Given the description of an element on the screen output the (x, y) to click on. 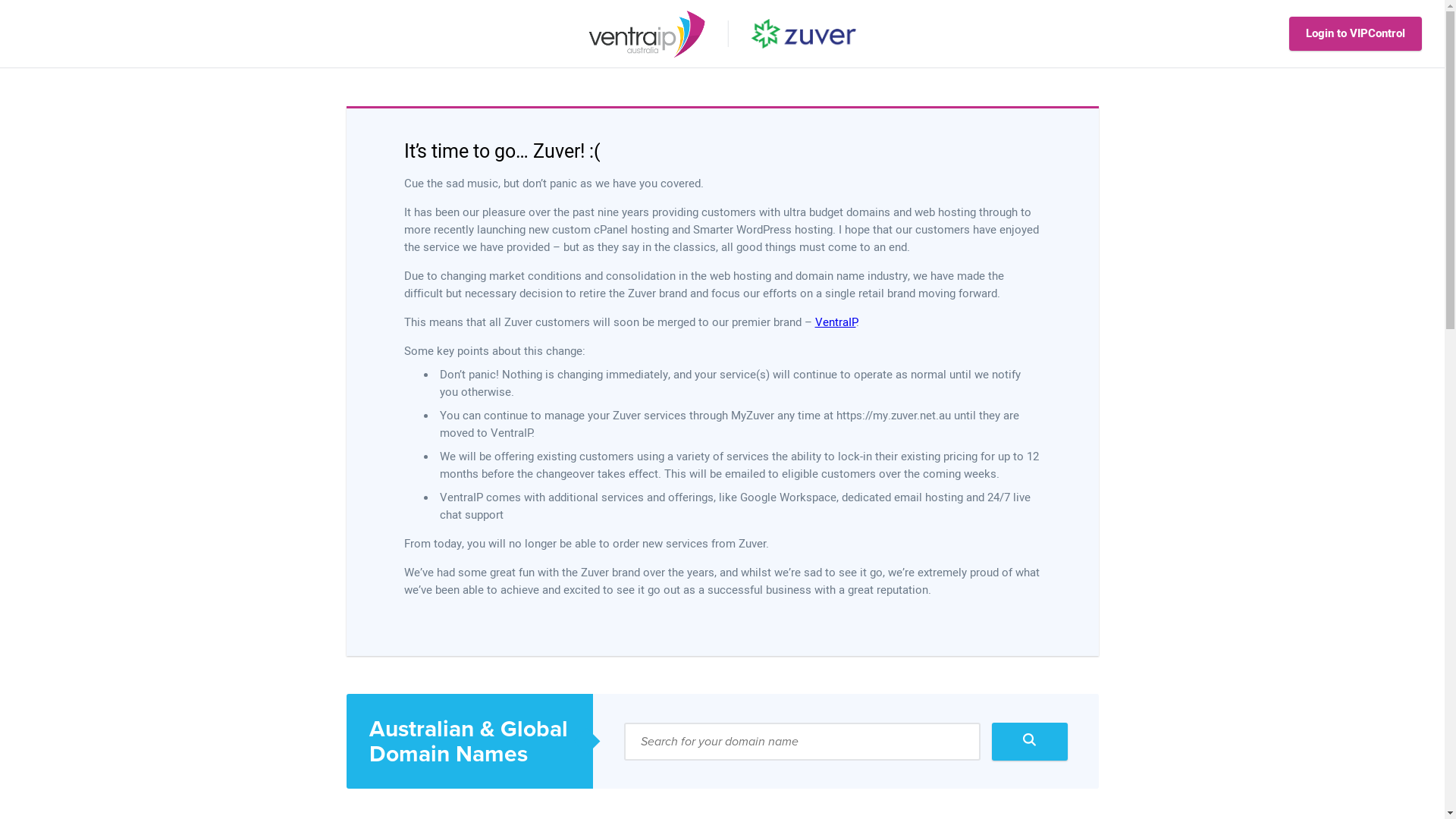
VentraIP Element type: text (834, 321)
Login to VIPControl Element type: text (1355, 33)
